Given the description of an element on the screen output the (x, y) to click on. 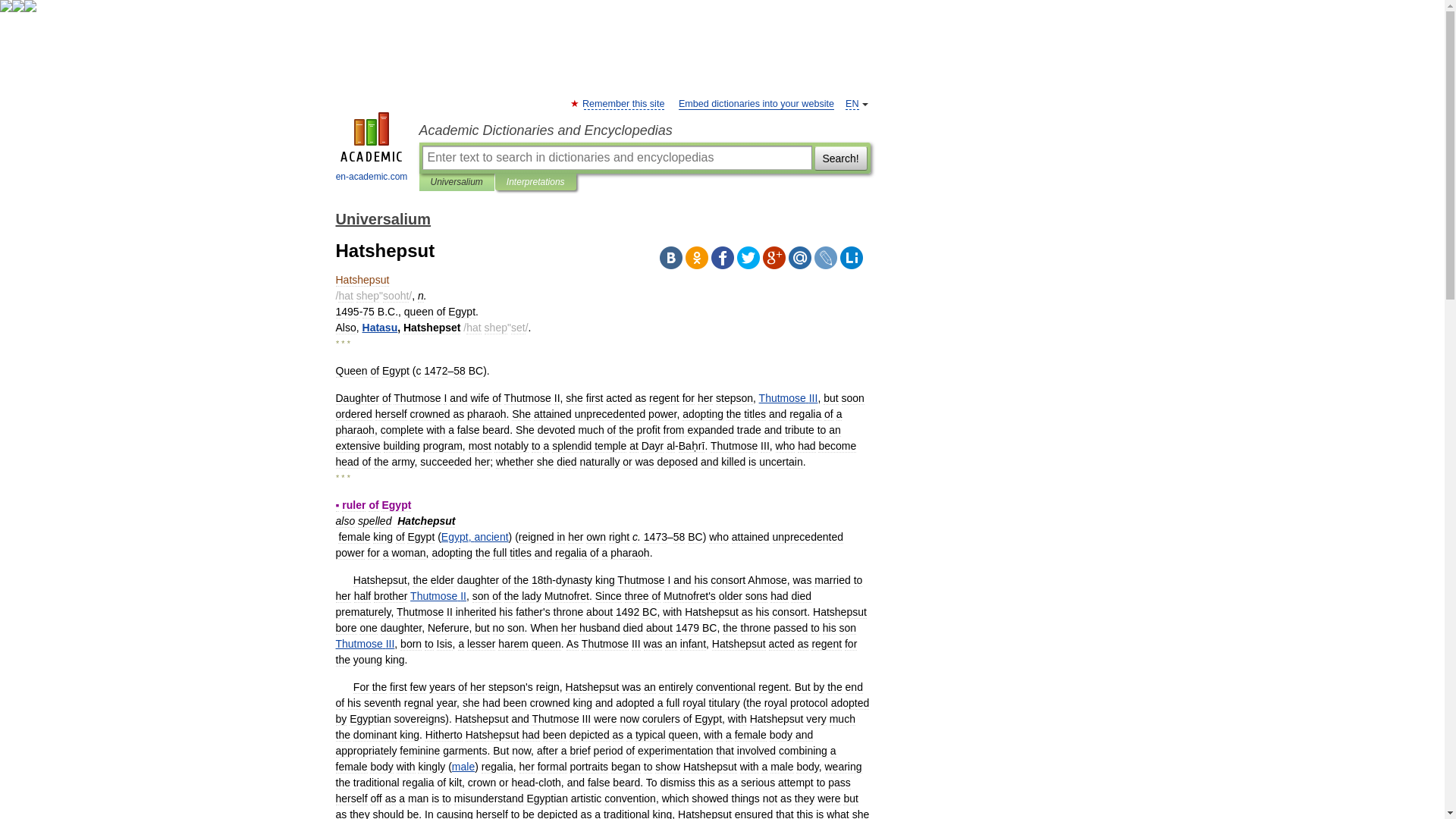
EN (852, 103)
Egypt, ancient (474, 536)
Academic Dictionaries and Encyclopedias (644, 130)
Universalium (382, 218)
Hatasu (379, 327)
en-academic.com (371, 148)
Thutmose III (788, 398)
Remember this site (623, 103)
Enter text to search in dictionaries and encyclopedias (616, 157)
Thutmose II (437, 595)
Universalium (456, 181)
Search! (840, 157)
Thutmose III (364, 644)
male (462, 766)
Embed dictionaries into your website (756, 103)
